Given the description of an element on the screen output the (x, y) to click on. 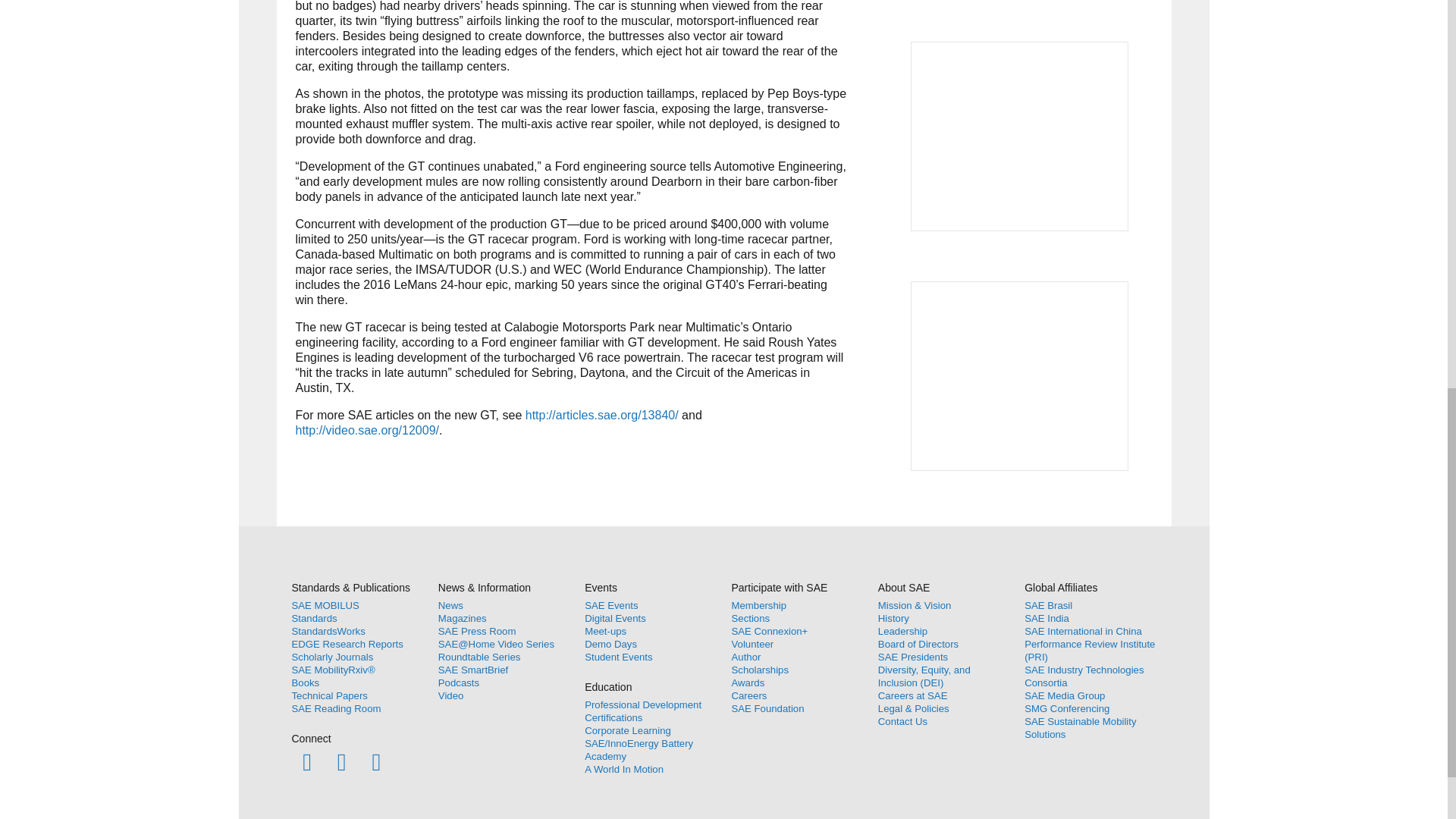
LinkedIn (376, 761)
Facebook (306, 761)
Twitter (341, 761)
